Given the description of an element on the screen output the (x, y) to click on. 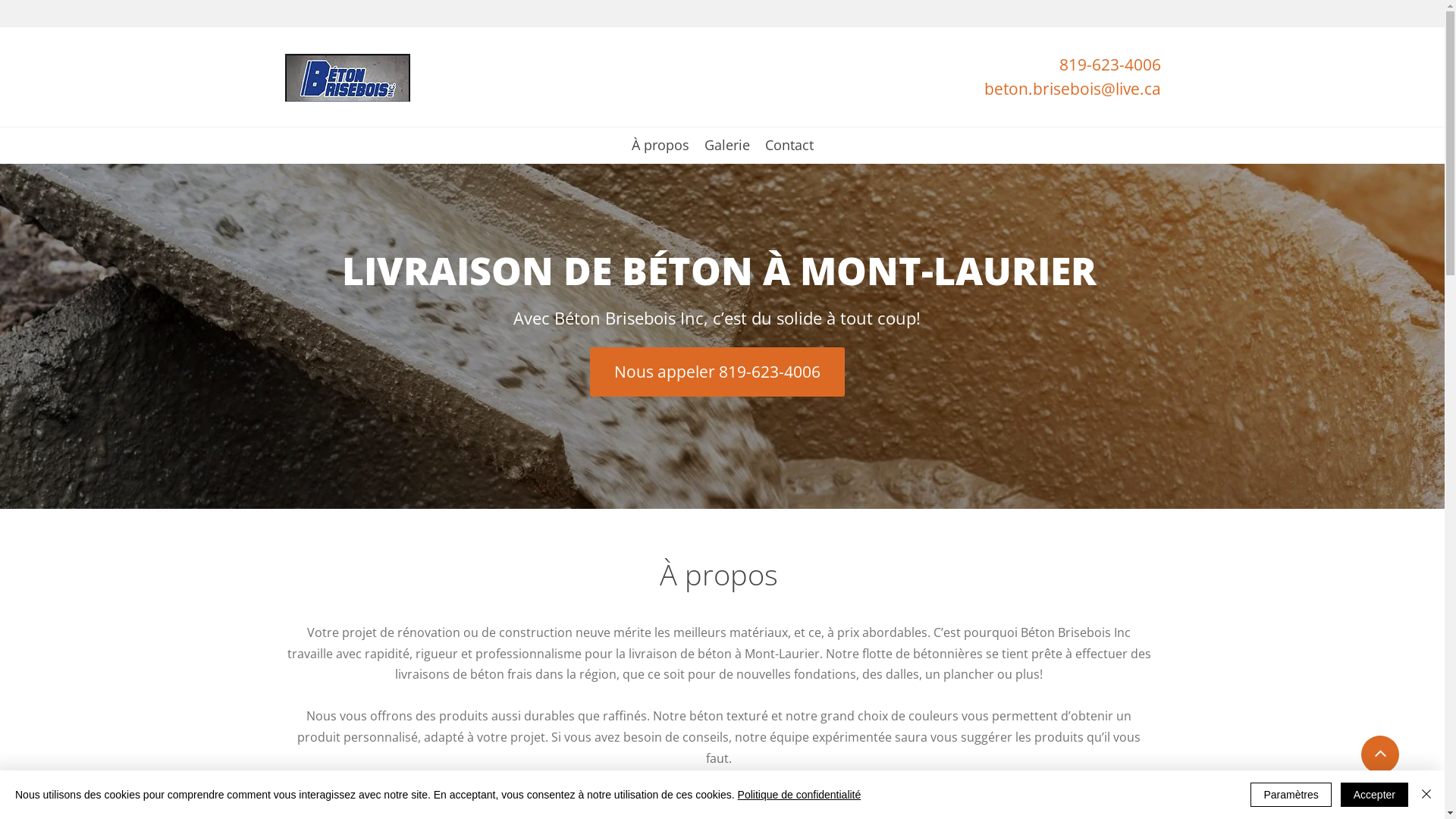
Nous appeler 819-623-4006 Element type: text (716, 371)
Contact Element type: text (788, 144)
beton.brisebois@live.ca Element type: text (1072, 91)
Accepter Element type: text (1374, 794)
819-623-4006 Element type: text (1109, 67)
Galerie Element type: text (726, 144)
